Given the description of an element on the screen output the (x, y) to click on. 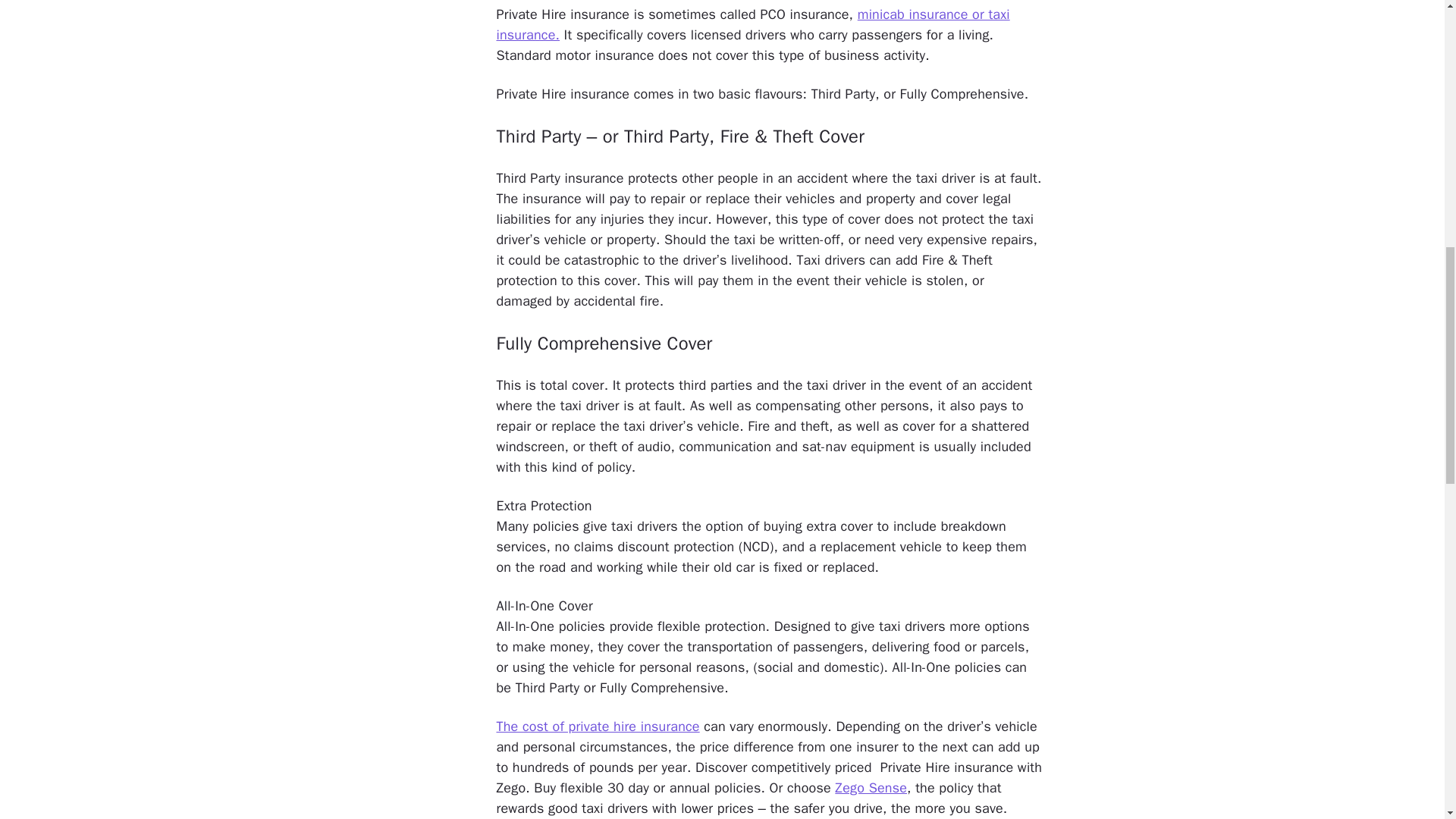
minicab insurance or taxi insurance. (752, 24)
Zego Sense (870, 787)
The cost of private hire insurance (597, 726)
